Given the description of an element on the screen output the (x, y) to click on. 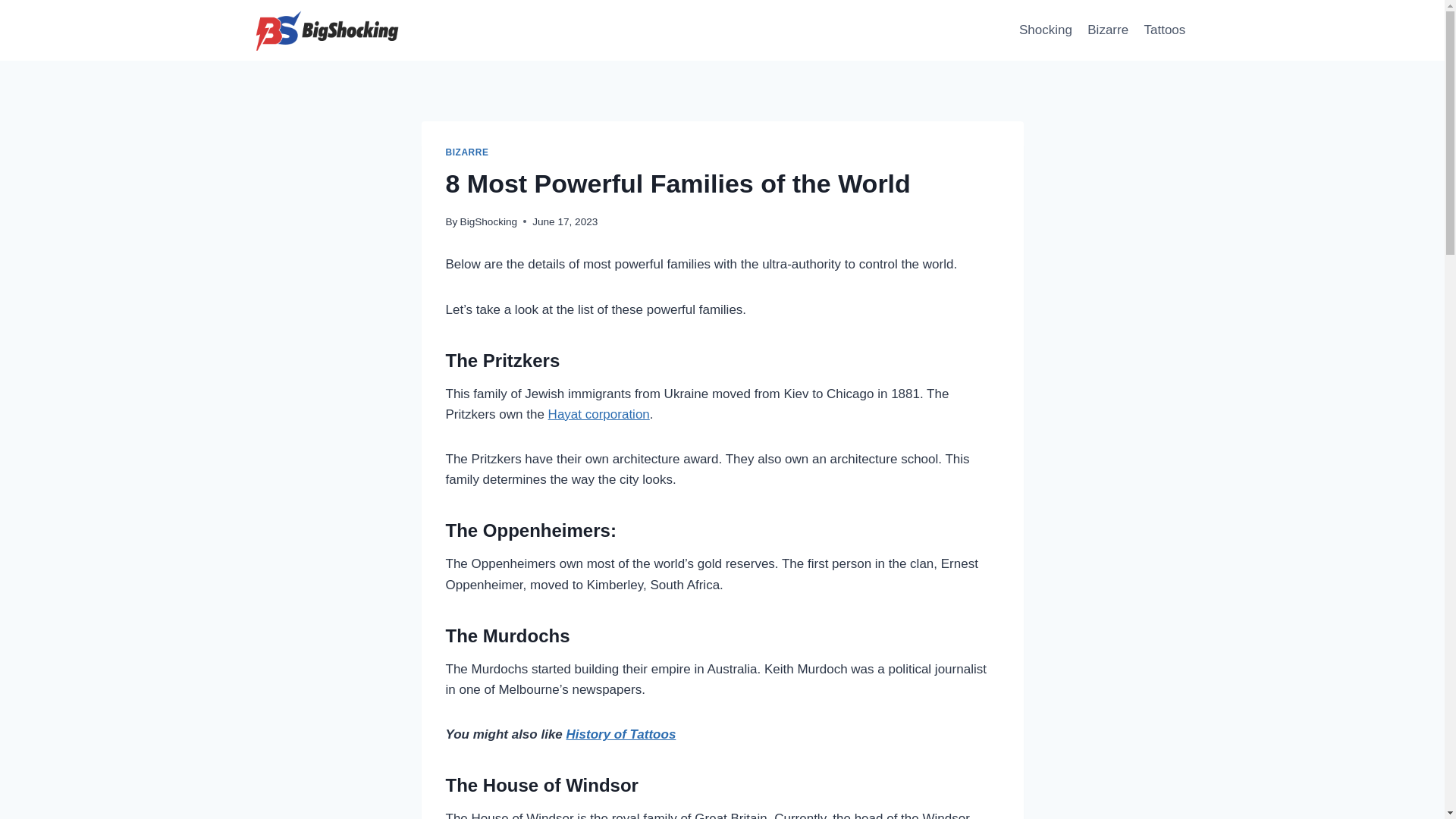
BigShocking (489, 221)
Hayat corporation (598, 414)
BIZARRE (467, 152)
Bizarre (1107, 30)
Shocking (1045, 30)
Tattoos (1163, 30)
History of Tattoos (621, 734)
